Given the description of an element on the screen output the (x, y) to click on. 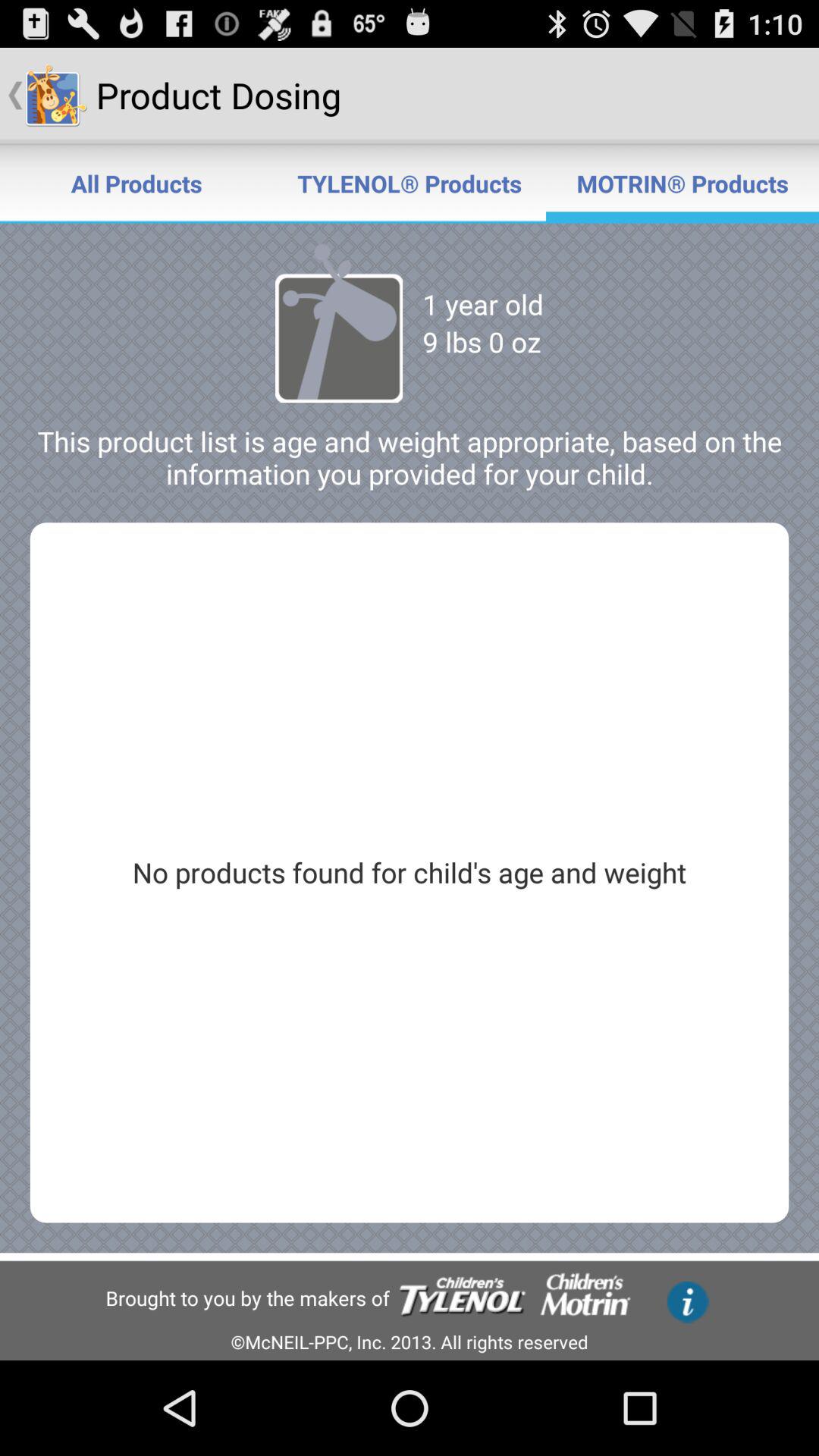
launch the item below product dosing app (409, 183)
